Given the description of an element on the screen output the (x, y) to click on. 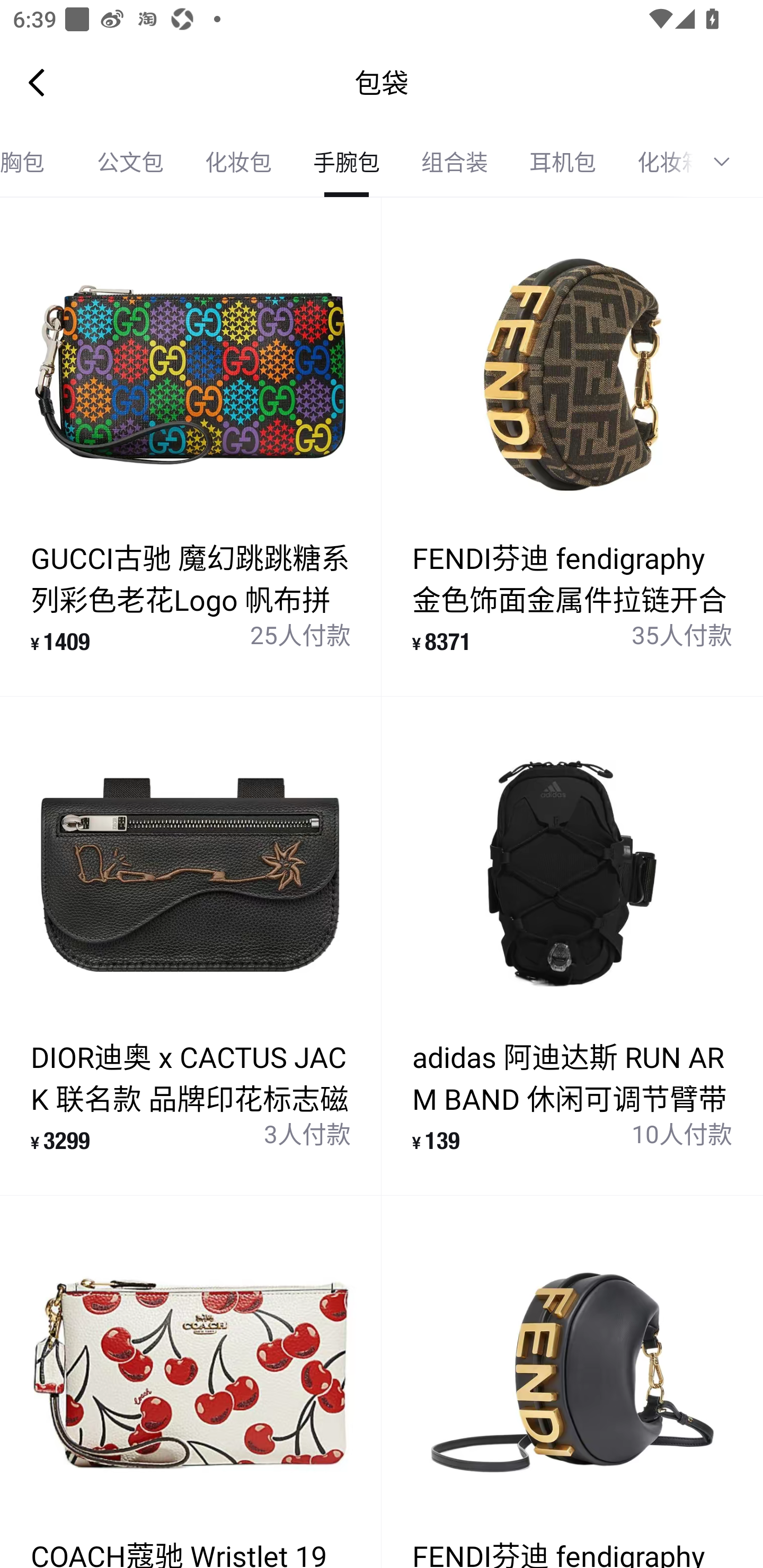
Navigate up (36, 82)
胸包 (38, 162)
公文包 (130, 162)
化妆包 (238, 162)
手腕包 (346, 162)
组合装 (454, 162)
耳机包 (562, 162)
 (727, 162)
FENDI芬迪 fendigraphy 
可调可拆式肩带拉链开合 
皮革 手腕包 迷你 女款 黑
色 (572, 1381)
